Given the description of an element on the screen output the (x, y) to click on. 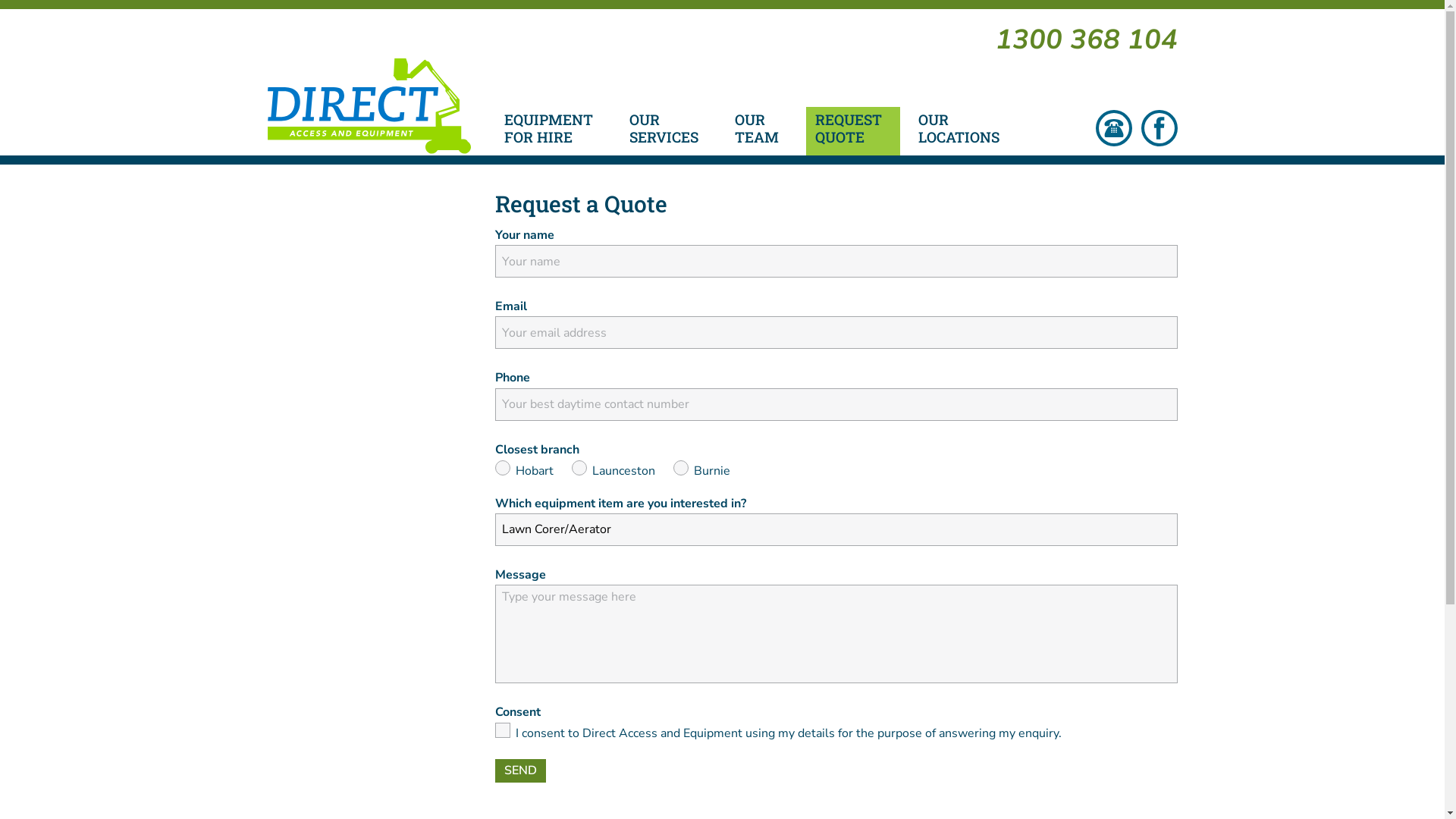
OUR
SERVICES Element type: text (668, 130)
1300 368 104 Element type: text (1085, 39)
EQUIPMENT
FOR HIRE Element type: text (552, 130)
OUR
LOCATIONS Element type: text (962, 130)
OUR
TEAM Element type: text (760, 130)
REQUEST
QUOTE Element type: text (852, 130)
SEND Element type: text (519, 770)
